Given the description of an element on the screen output the (x, y) to click on. 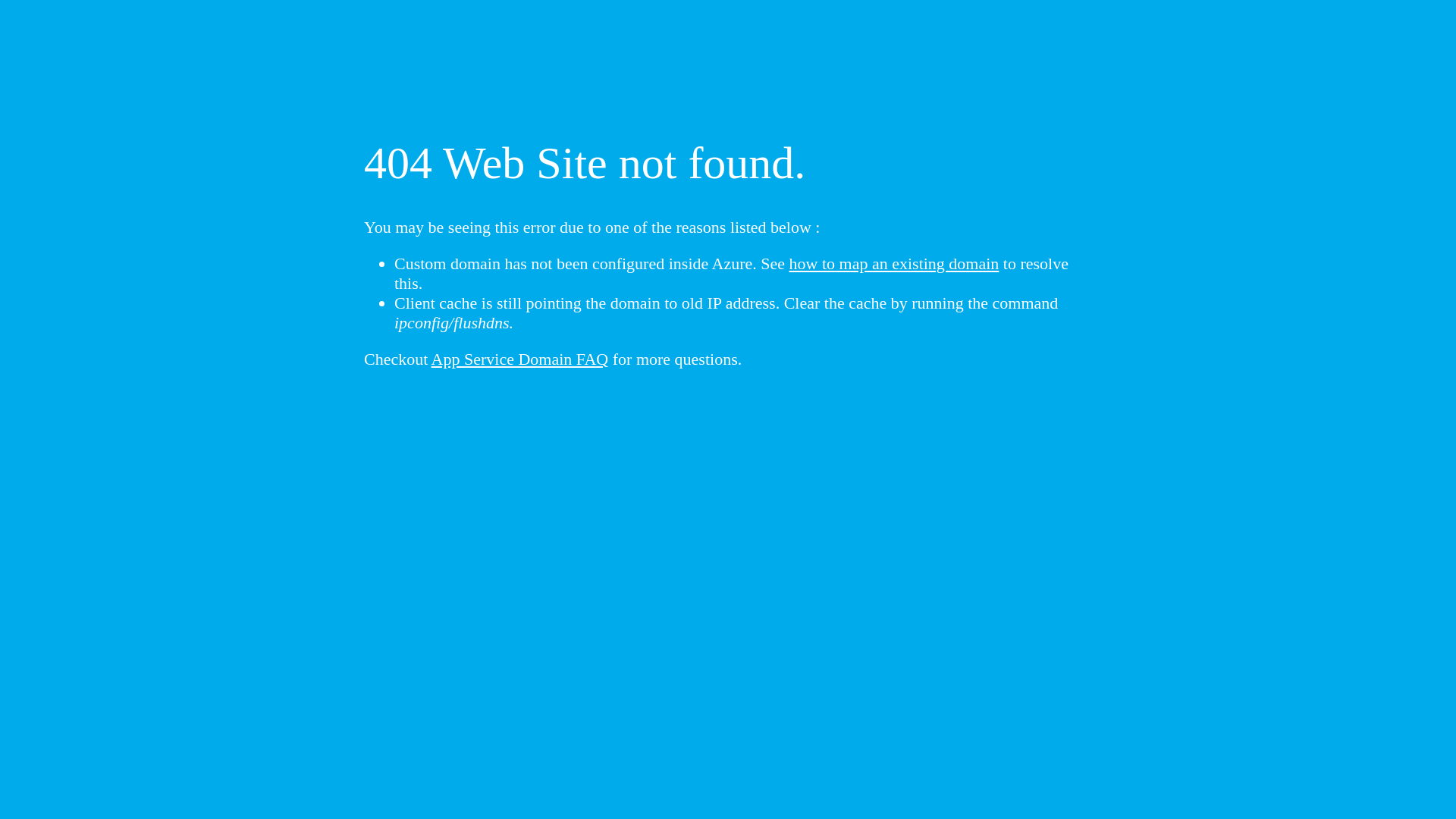
how to map an existing domain Element type: text (894, 263)
App Service Domain FAQ Element type: text (519, 358)
